Given the description of an element on the screen output the (x, y) to click on. 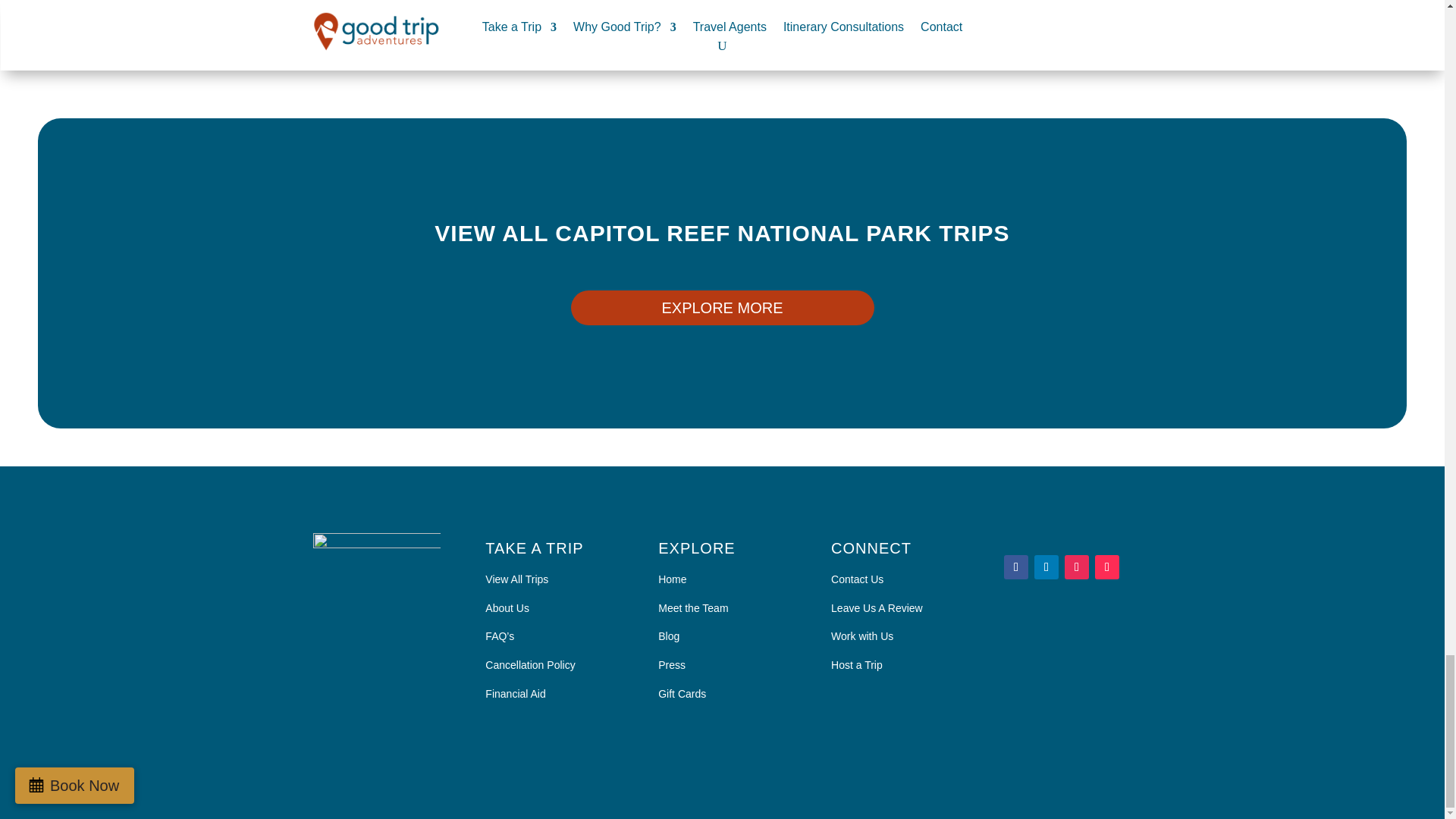
Follow on LinkedIn (1045, 567)
Good Trip Logo (376, 579)
Follow on Facebook (1015, 567)
